Given the description of an element on the screen output the (x, y) to click on. 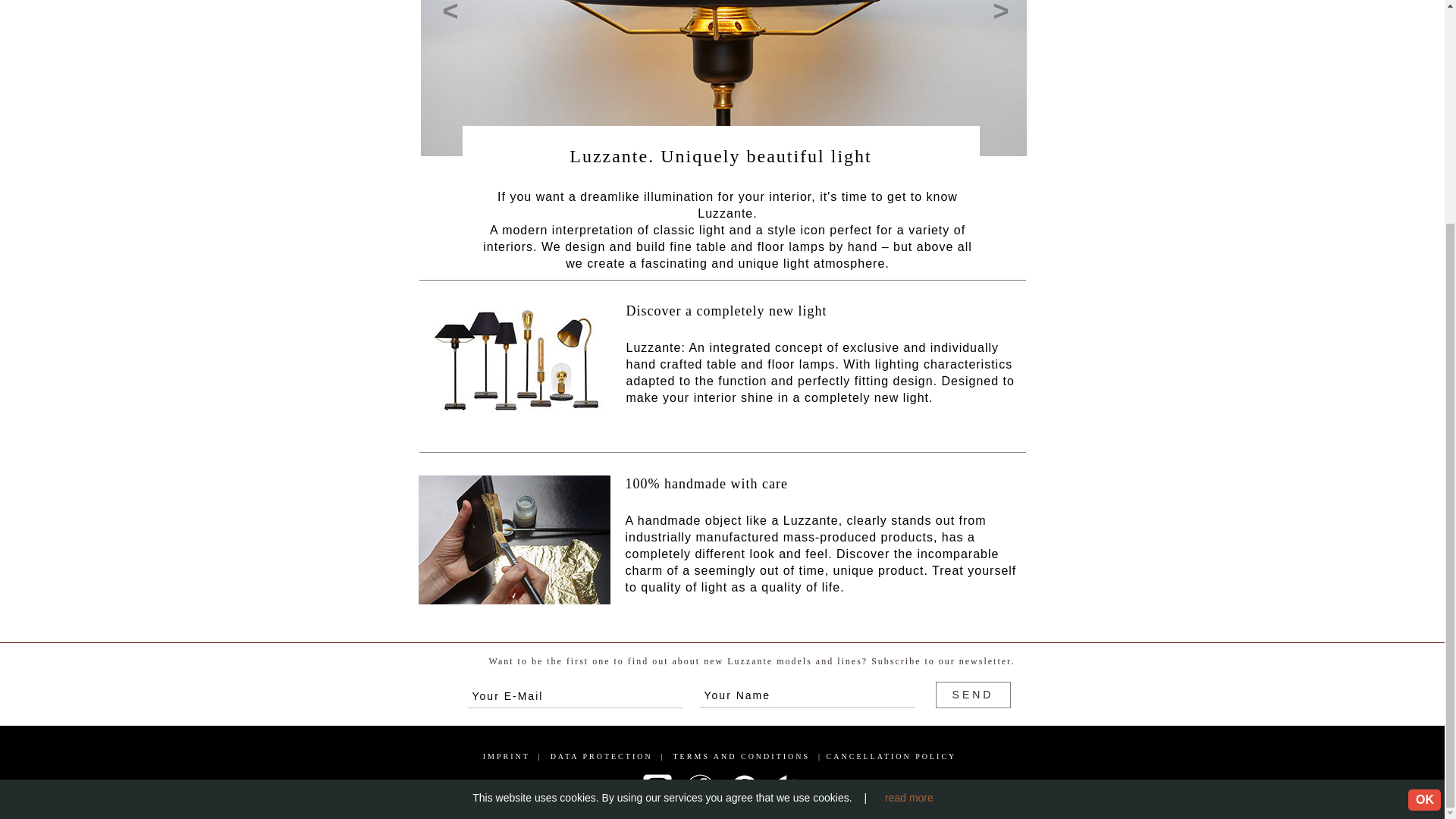
OK (1424, 501)
DATA PROTECTION (601, 756)
SEND (973, 694)
IMPRINT (506, 756)
TERMS AND CONDITIONS (741, 756)
read more (908, 499)
CANCELLATION POLICY (891, 756)
